Given the description of an element on the screen output the (x, y) to click on. 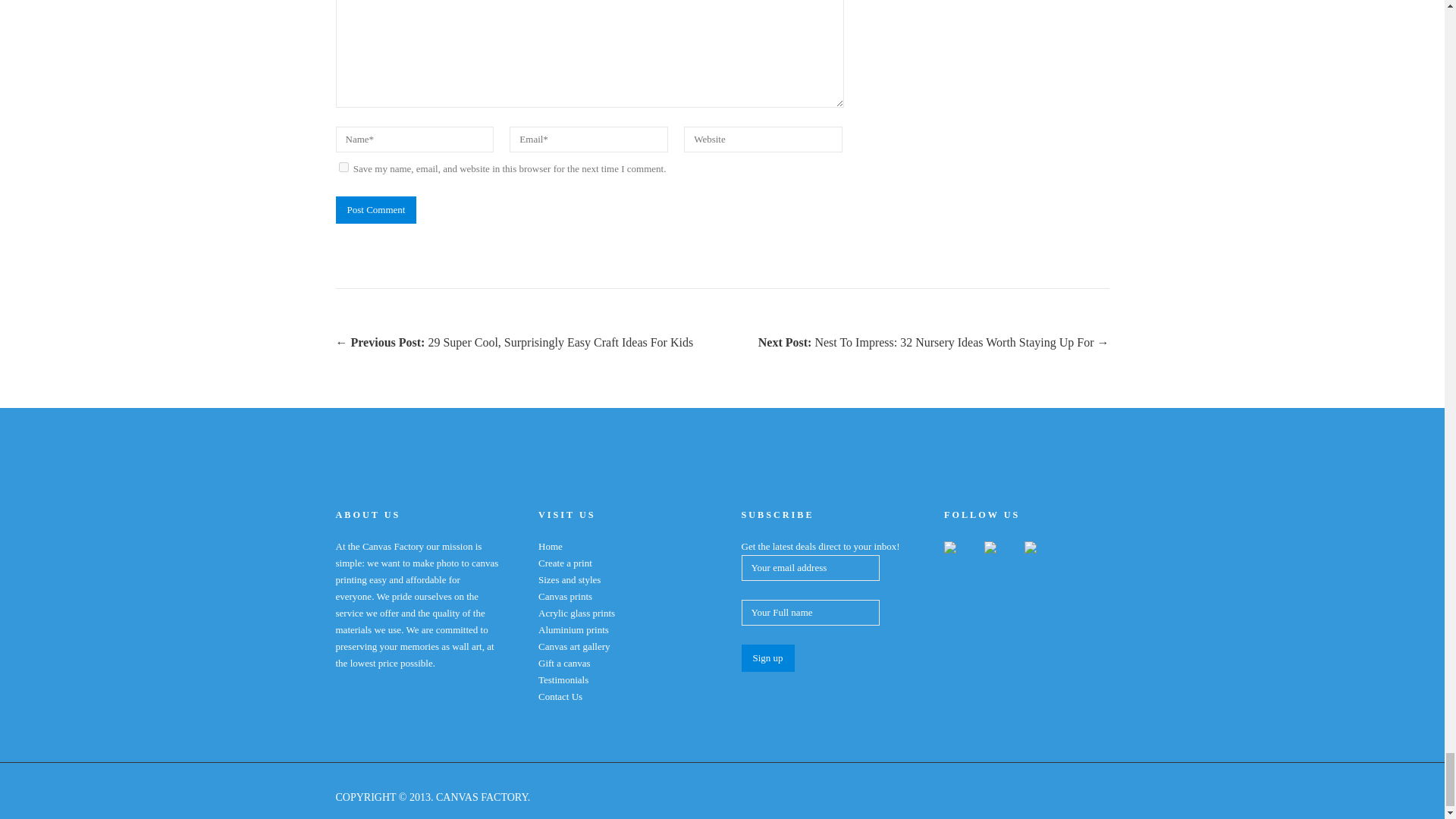
Post Comment (375, 209)
yes (342, 166)
Sign up (767, 657)
